Given the description of an element on the screen output the (x, y) to click on. 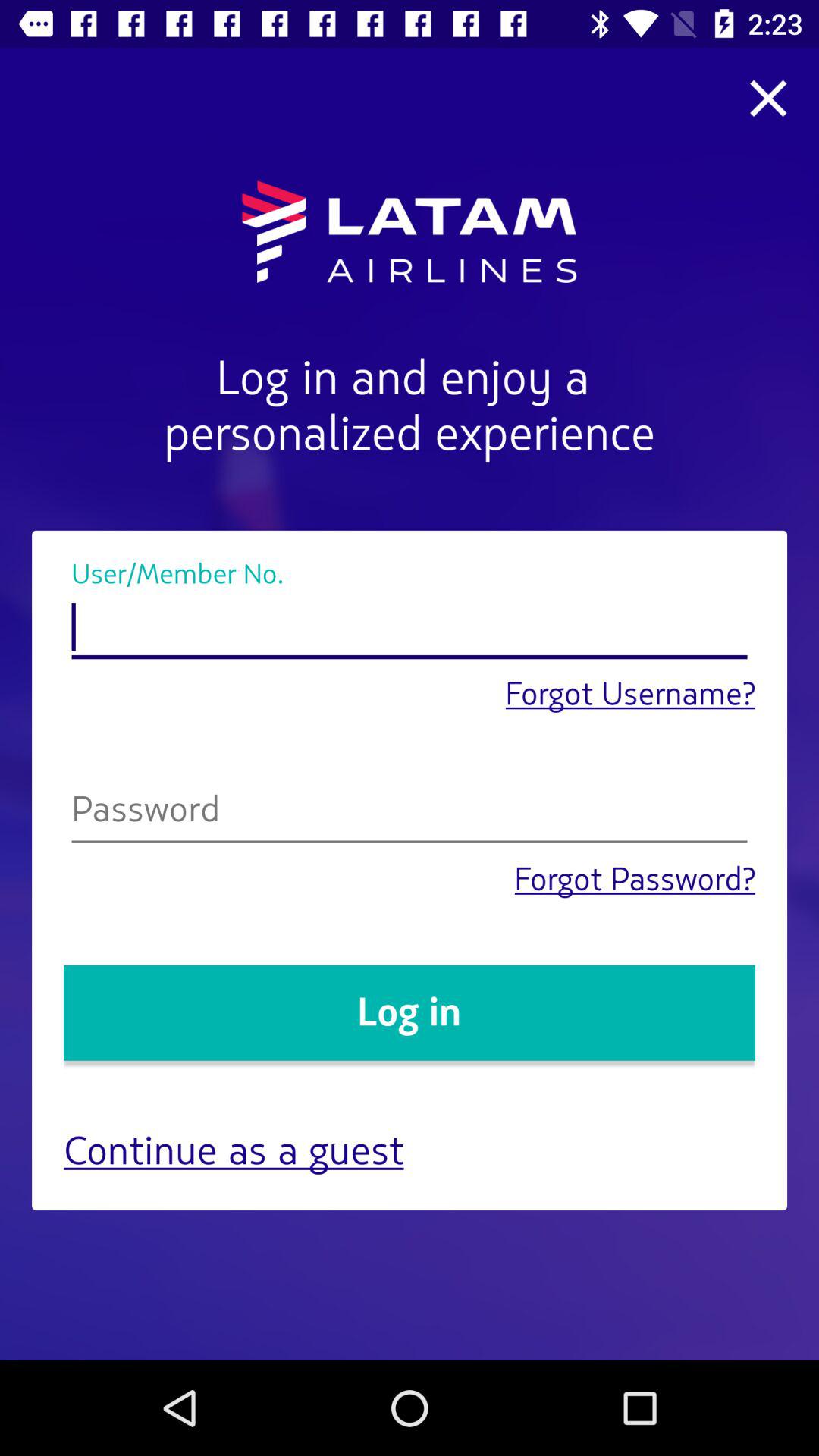
username option (409, 627)
